Given the description of an element on the screen output the (x, y) to click on. 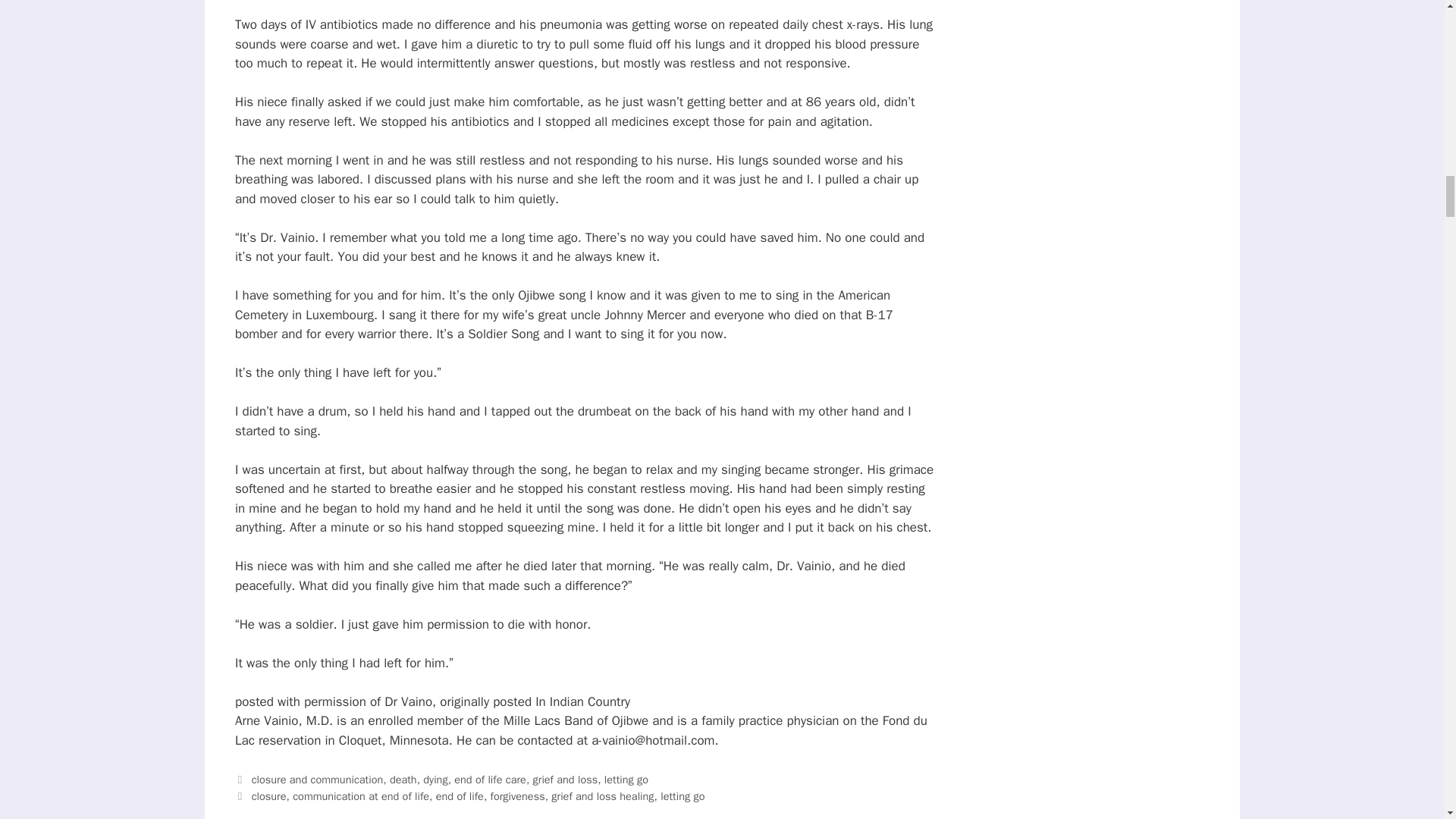
letting go (625, 779)
grief and loss (565, 779)
end of life care (489, 779)
death (403, 779)
communication at end of life (360, 796)
letting go (682, 796)
end of life (459, 796)
dying (434, 779)
grief and loss healing (602, 796)
forgiveness (517, 796)
closure and communication (317, 779)
closure (268, 796)
